Given the description of an element on the screen output the (x, y) to click on. 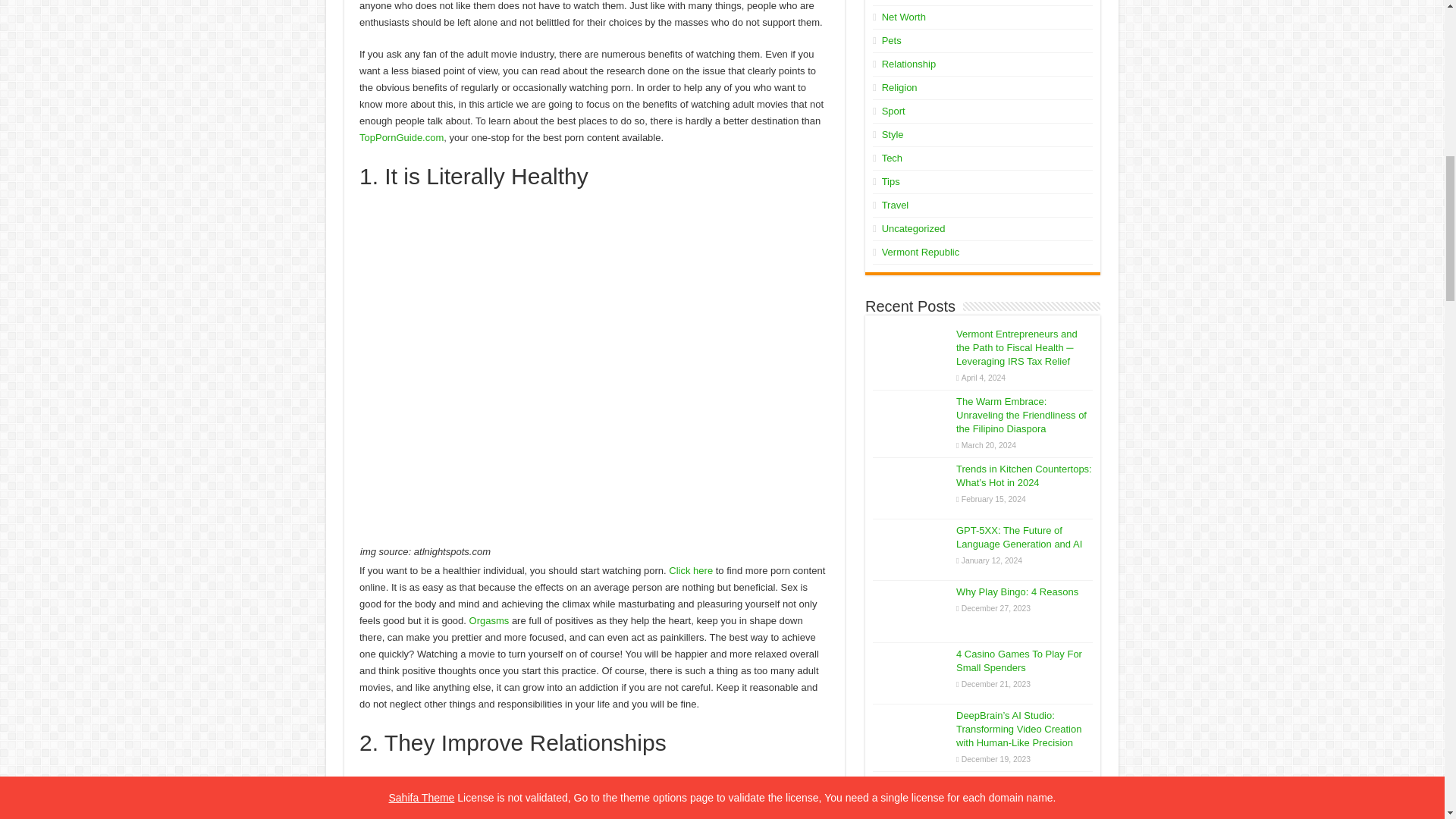
Orgasms (488, 620)
TopPornGuide.com (401, 137)
Scroll To Top (1421, 60)
Click here (690, 570)
